Given the description of an element on the screen output the (x, y) to click on. 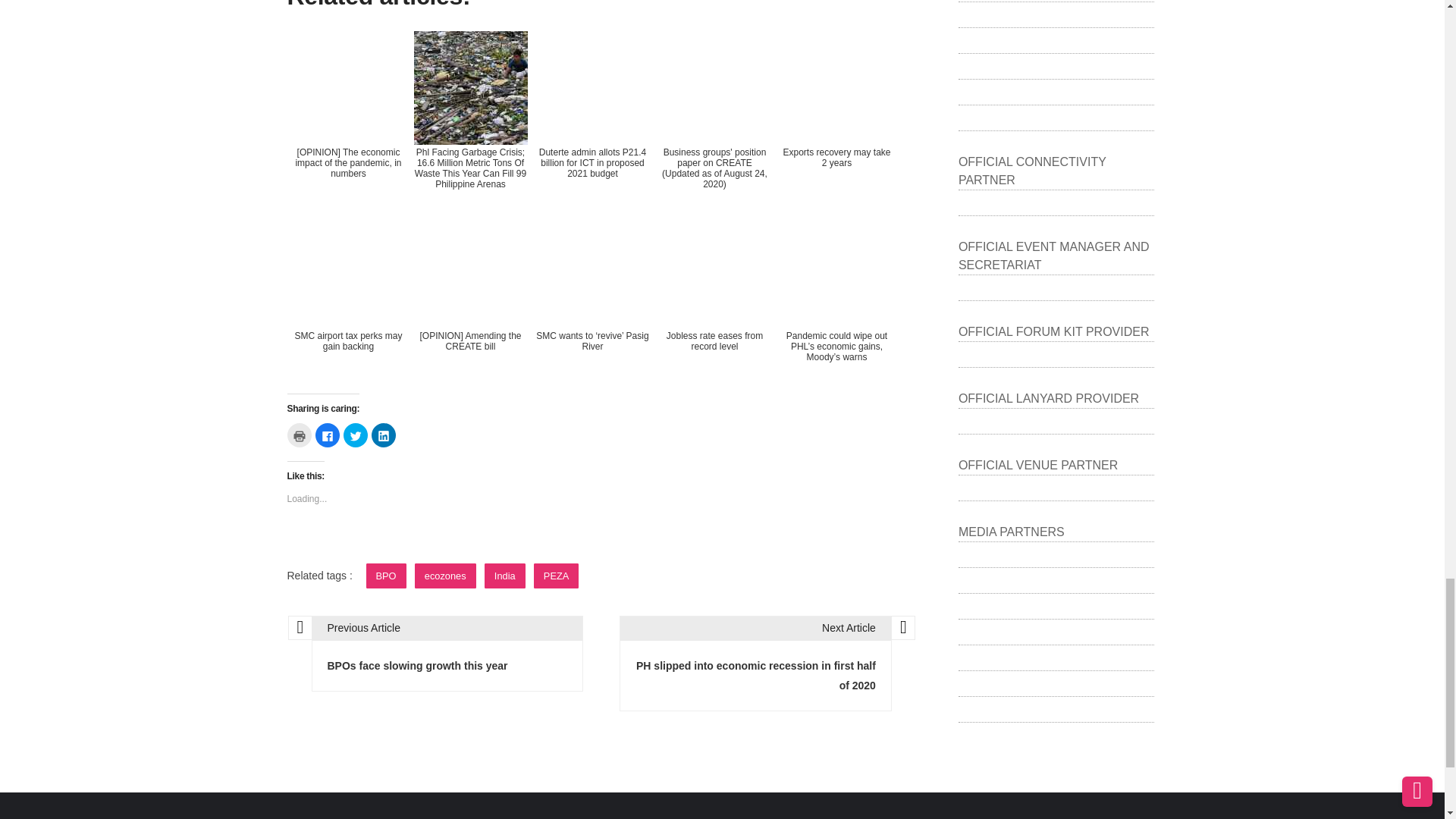
Click to share on LinkedIn (383, 435)
Click to share on Twitter (354, 435)
Click to print (298, 435)
Click to share on Facebook (327, 435)
